Given the description of an element on the screen output the (x, y) to click on. 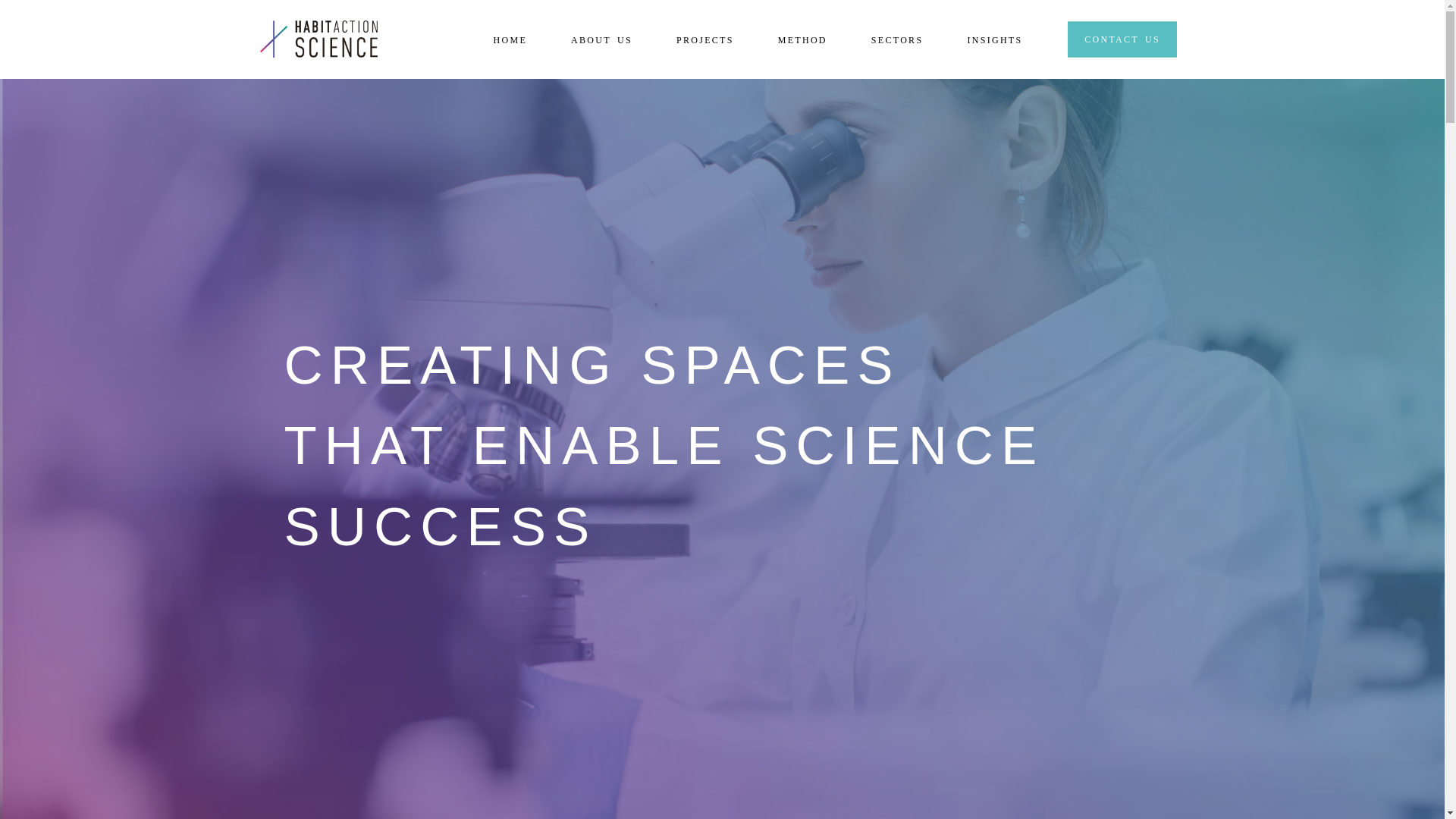
CONTACT US (1121, 38)
SECTORS (896, 39)
ABOUT US (600, 39)
Submit (427, 592)
METHOD (802, 39)
INSIGHTS (994, 39)
HOME (510, 39)
PROJECTS (705, 39)
